Given the description of an element on the screen output the (x, y) to click on. 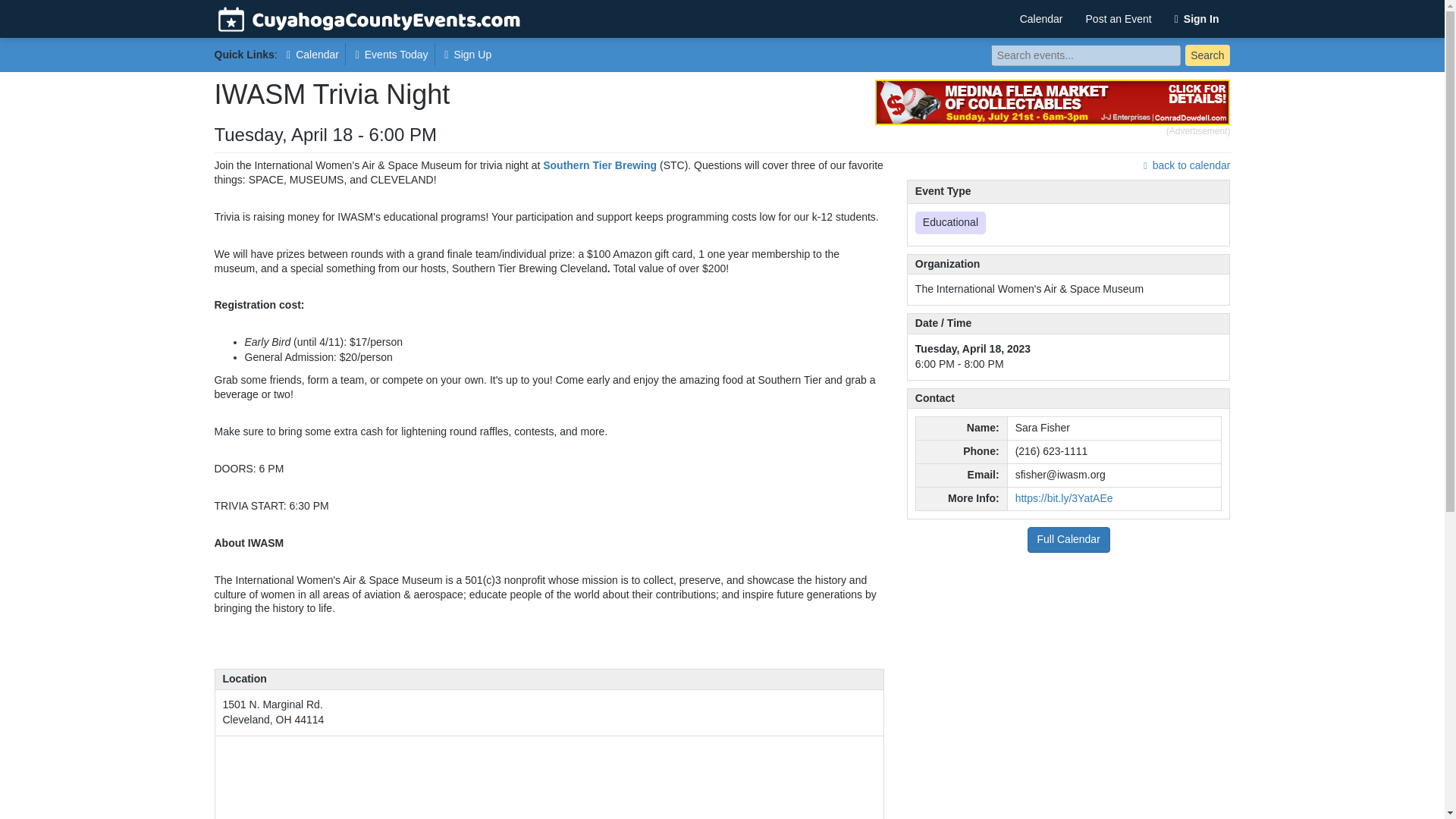
back to calendar (1186, 164)
Search (1206, 55)
Calendar (1041, 18)
Full Calendar (1068, 539)
Post an Event (1118, 18)
Sign In (1196, 18)
Sign Up (467, 54)
Events Today (392, 54)
Calendar (313, 54)
Southern Tier Brewing (599, 164)
